Given the description of an element on the screen output the (x, y) to click on. 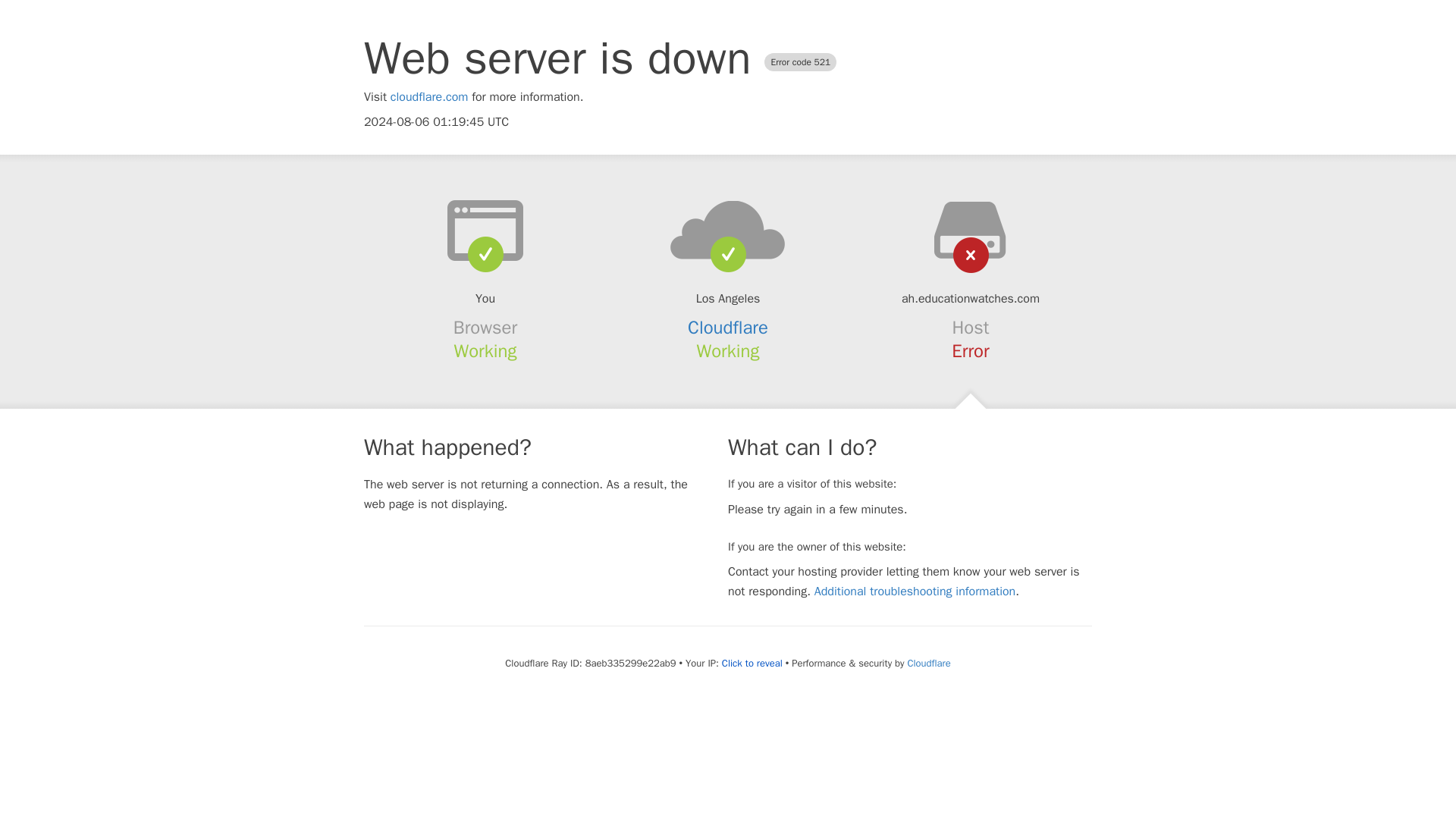
Click to reveal (752, 663)
cloudflare.com (429, 96)
Cloudflare (928, 662)
Additional troubleshooting information (913, 590)
Cloudflare (727, 327)
